Given the description of an element on the screen output the (x, y) to click on. 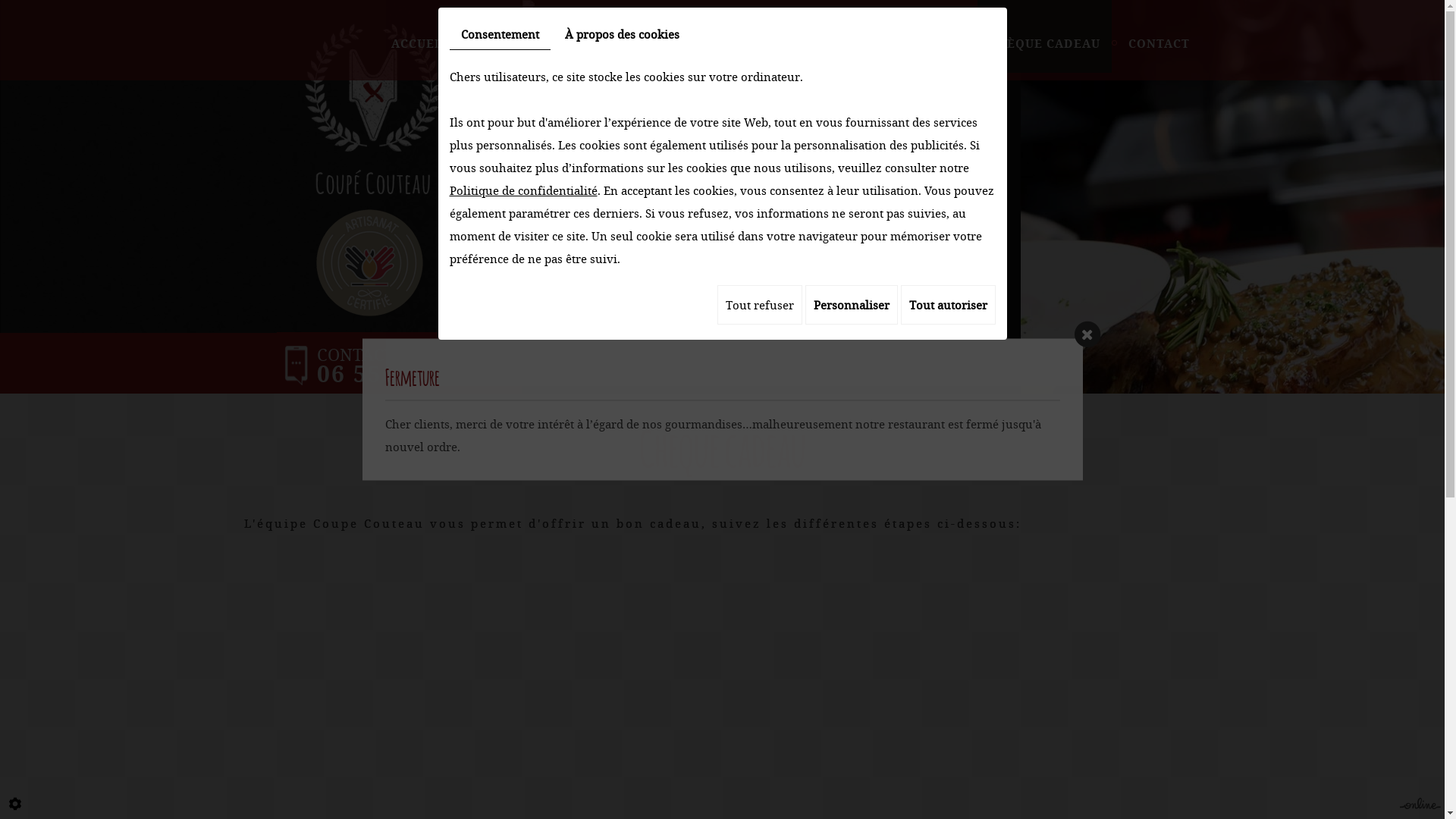
GALERIE PHOTOS Element type: text (625, 36)
Tout autoriser Element type: text (947, 304)
ACCUEIL Element type: text (418, 36)
Consentement Element type: text (498, 34)
Personnaliser Element type: text (851, 304)
CONTACT Element type: text (1158, 36)
06 556 56 13 Element type: text (392, 373)
Tout refuser Element type: text (759, 304)
LA CARTE Element type: text (507, 36)
